Given the description of an element on the screen output the (x, y) to click on. 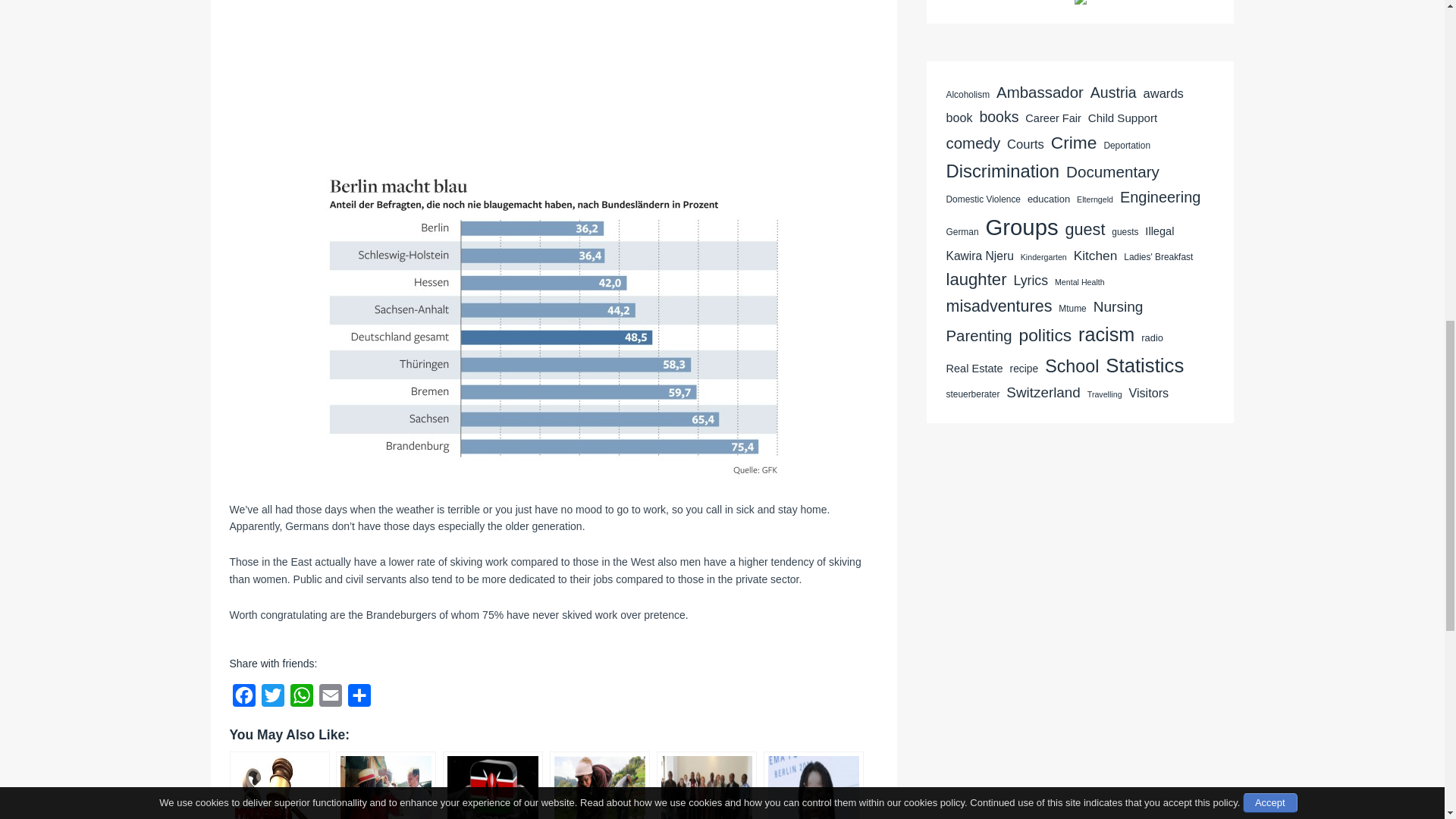
Facebook (242, 698)
Broken Dreams of an African Family in Rural Russia (599, 785)
WhatsApp (300, 698)
Auma Obama at the TEDx Vienna (812, 785)
Advertisement (552, 76)
Twitter (271, 698)
Email (329, 698)
Racist or Helpful? (385, 785)
